Given the description of an element on the screen output the (x, y) to click on. 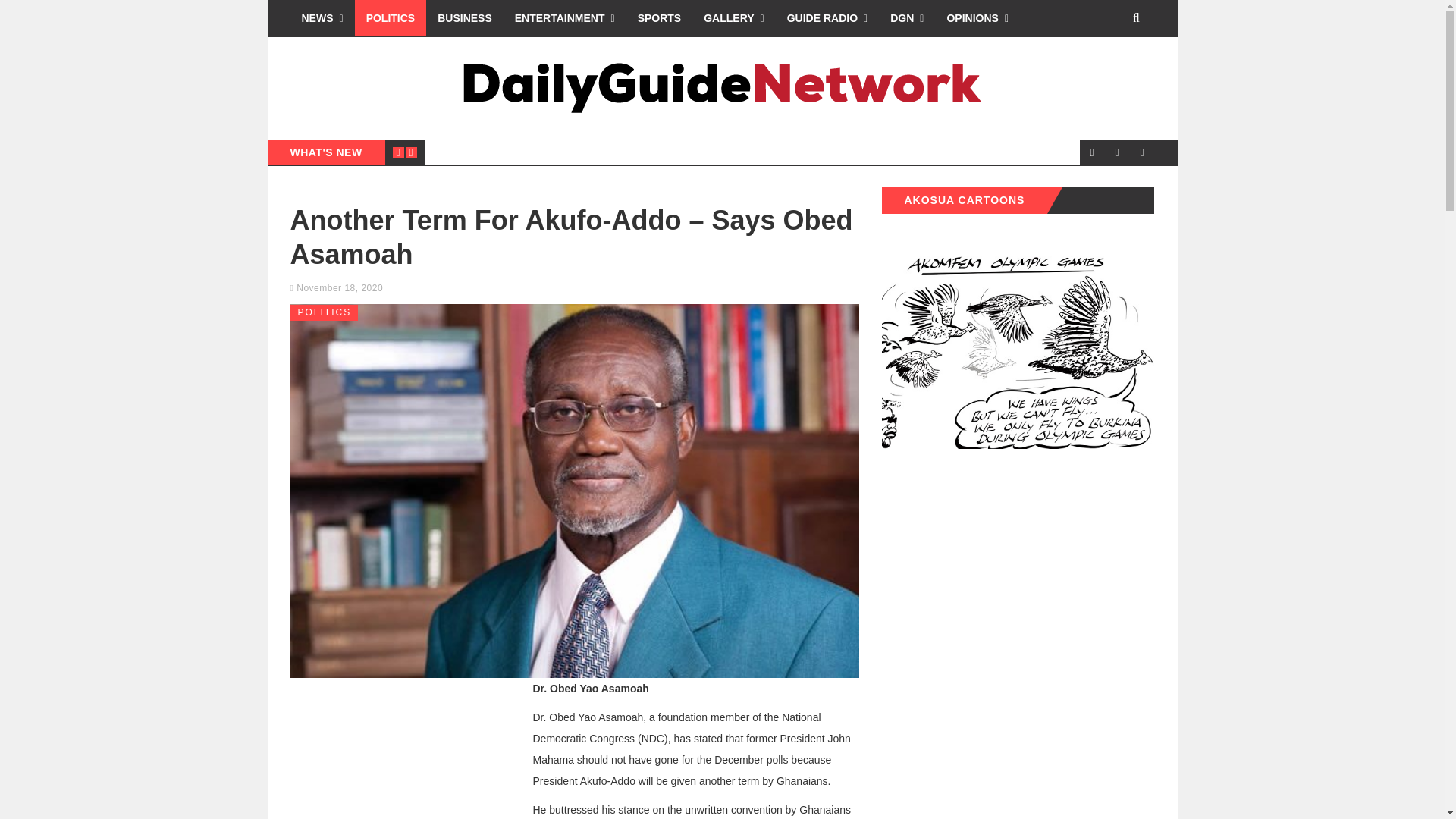
DGN (906, 18)
OPINIONS (977, 18)
GALLERY (734, 18)
ENTERTAINMENT (564, 18)
GUIDE RADIO (827, 18)
NEWS (321, 18)
POLITICS (390, 18)
BUSINESS (464, 18)
SPORTS (659, 18)
